Given the description of an element on the screen output the (x, y) to click on. 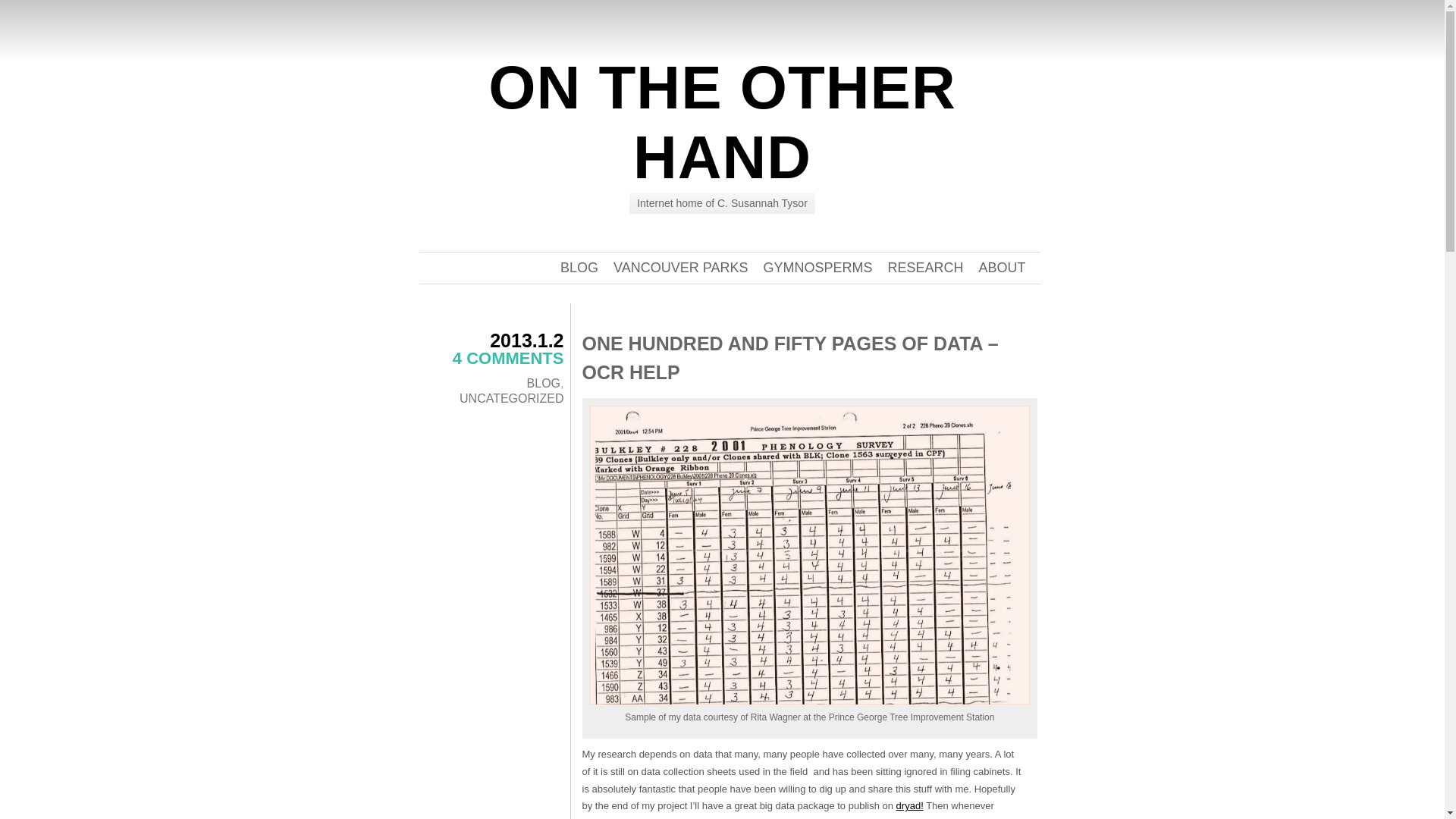
4 COMMENTS (508, 357)
VANCOUVER PARKS (680, 267)
dryad! (909, 805)
On the other hand (721, 122)
BLOG (579, 267)
2013.1.2 (526, 340)
ABOUT (1001, 267)
UNCATEGORIZED (511, 398)
ON THE OTHER HAND (721, 122)
GYMNOSPERMS (817, 267)
